Given the description of an element on the screen output the (x, y) to click on. 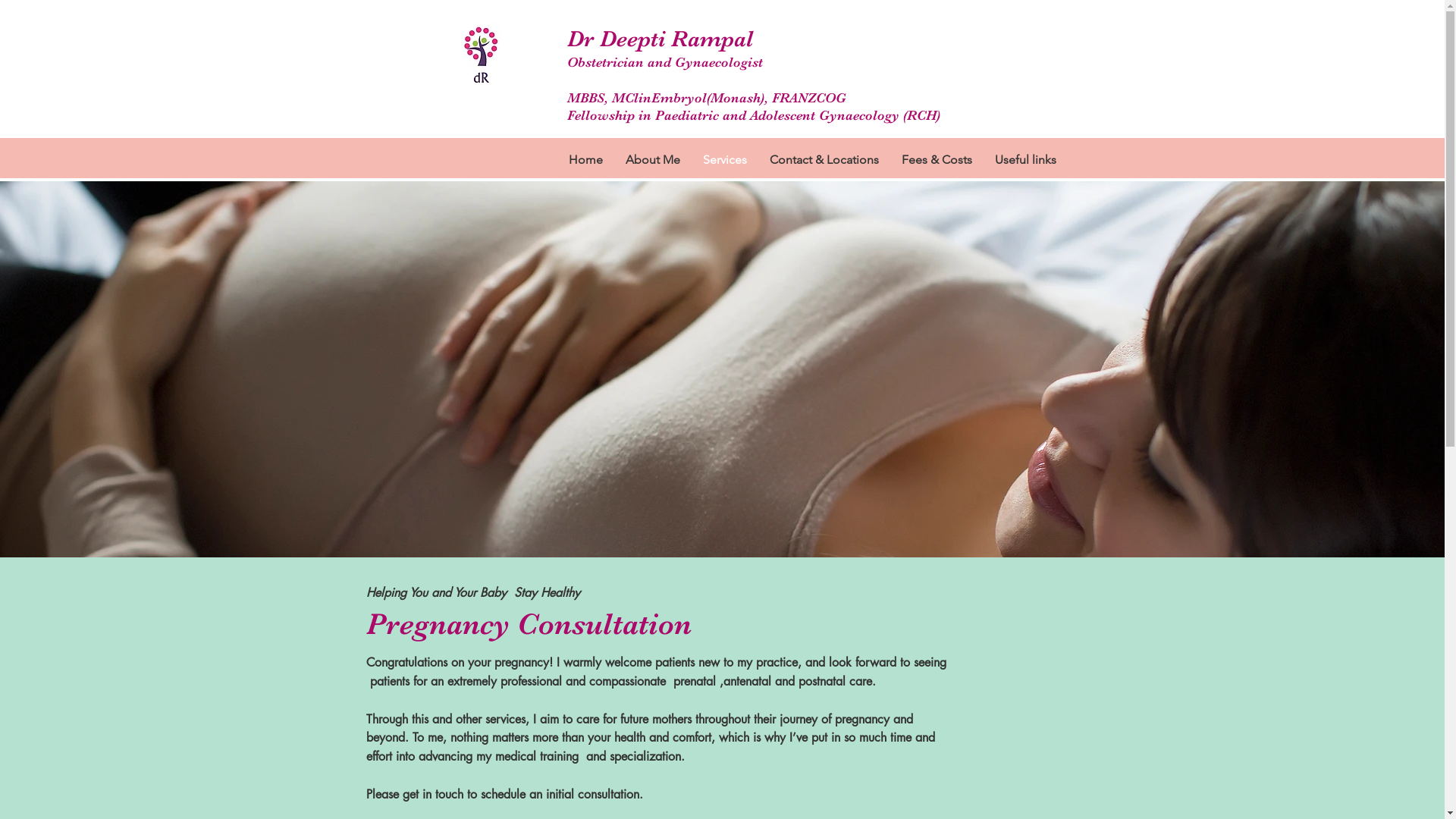
400dpiLogo_edited.jpg Element type: hover (479, 54)
Fees & Costs Element type: text (936, 158)
Services Element type: text (724, 158)
Contact & Locations Element type: text (824, 158)
Home Element type: text (584, 158)
Useful links Element type: text (1024, 158)
About Me Element type: text (652, 158)
